Given the description of an element on the screen output the (x, y) to click on. 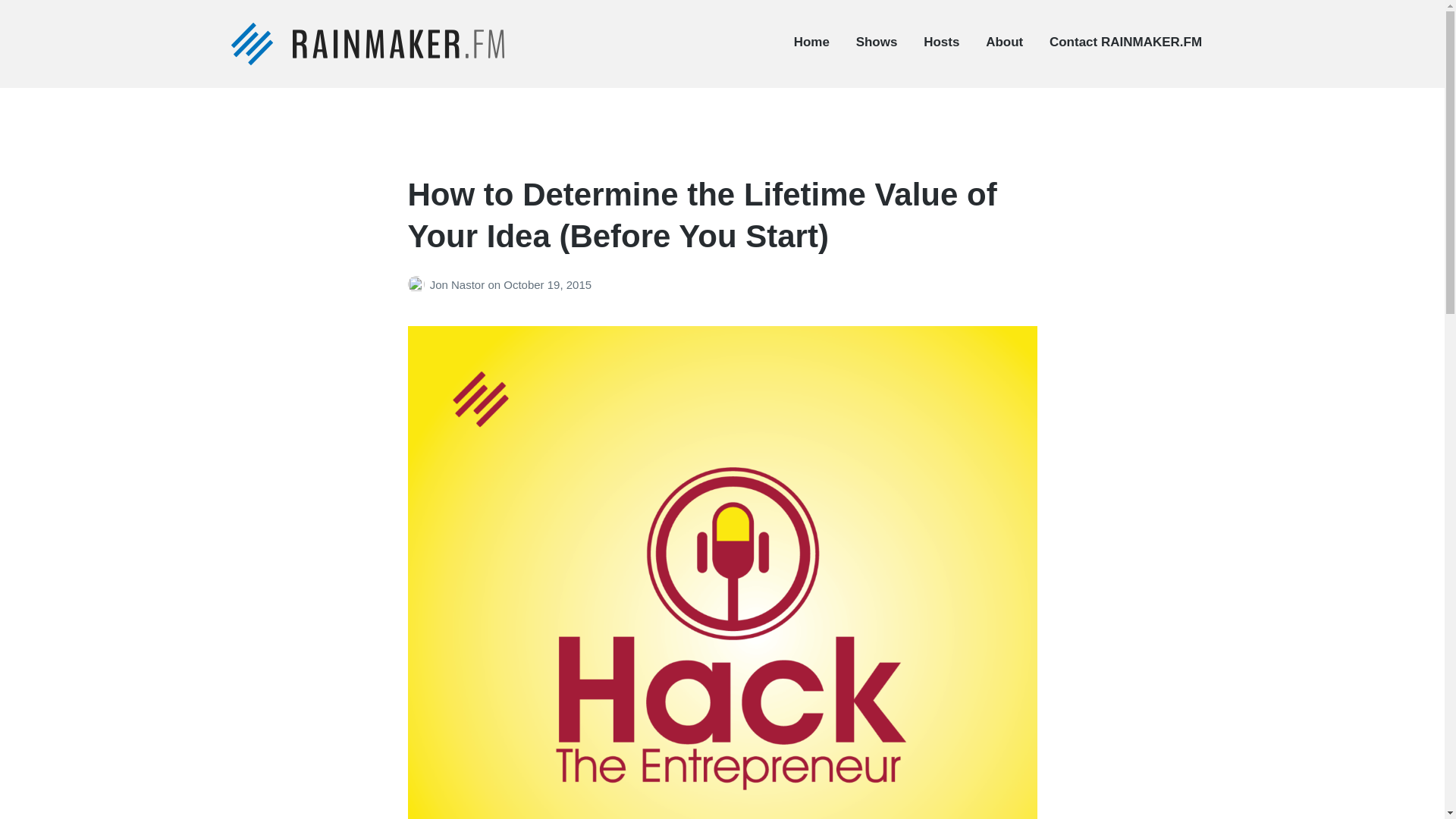
Home (811, 42)
Contact RAINMAKER.FM (1125, 42)
Hosts (941, 42)
Jon Nastor (458, 284)
Posts by Jon Nastor (418, 284)
Shows (877, 42)
About (1004, 42)
RAINMAKER.FM (308, 82)
